Given the description of an element on the screen output the (x, y) to click on. 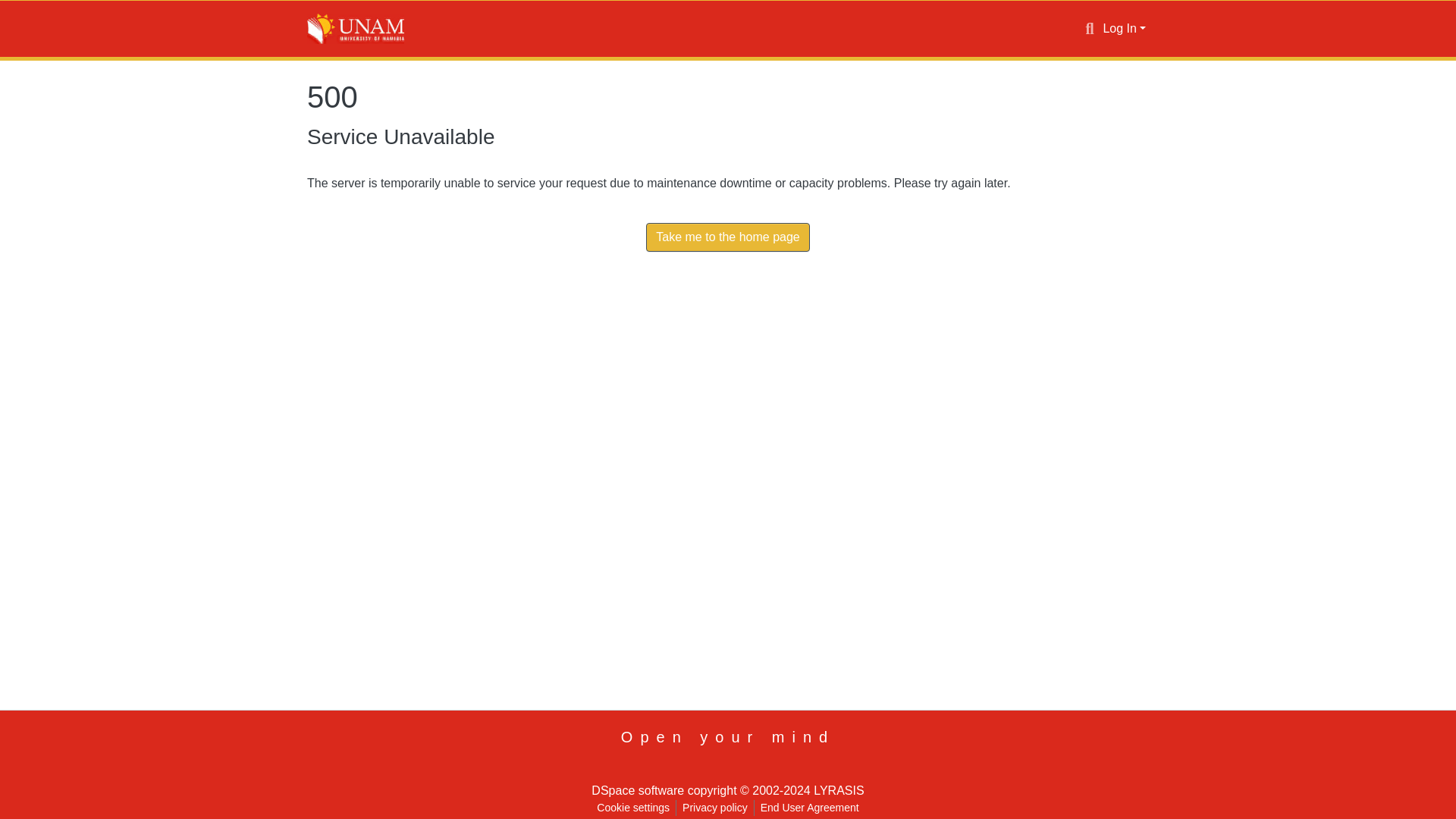
DSpace software (637, 789)
Search (1088, 28)
Cookie settings (633, 807)
Privacy policy (715, 807)
Take me to the home page (727, 236)
End User Agreement (809, 807)
Log In (1123, 28)
LYRASIS (838, 789)
